Given the description of an element on the screen output the (x, y) to click on. 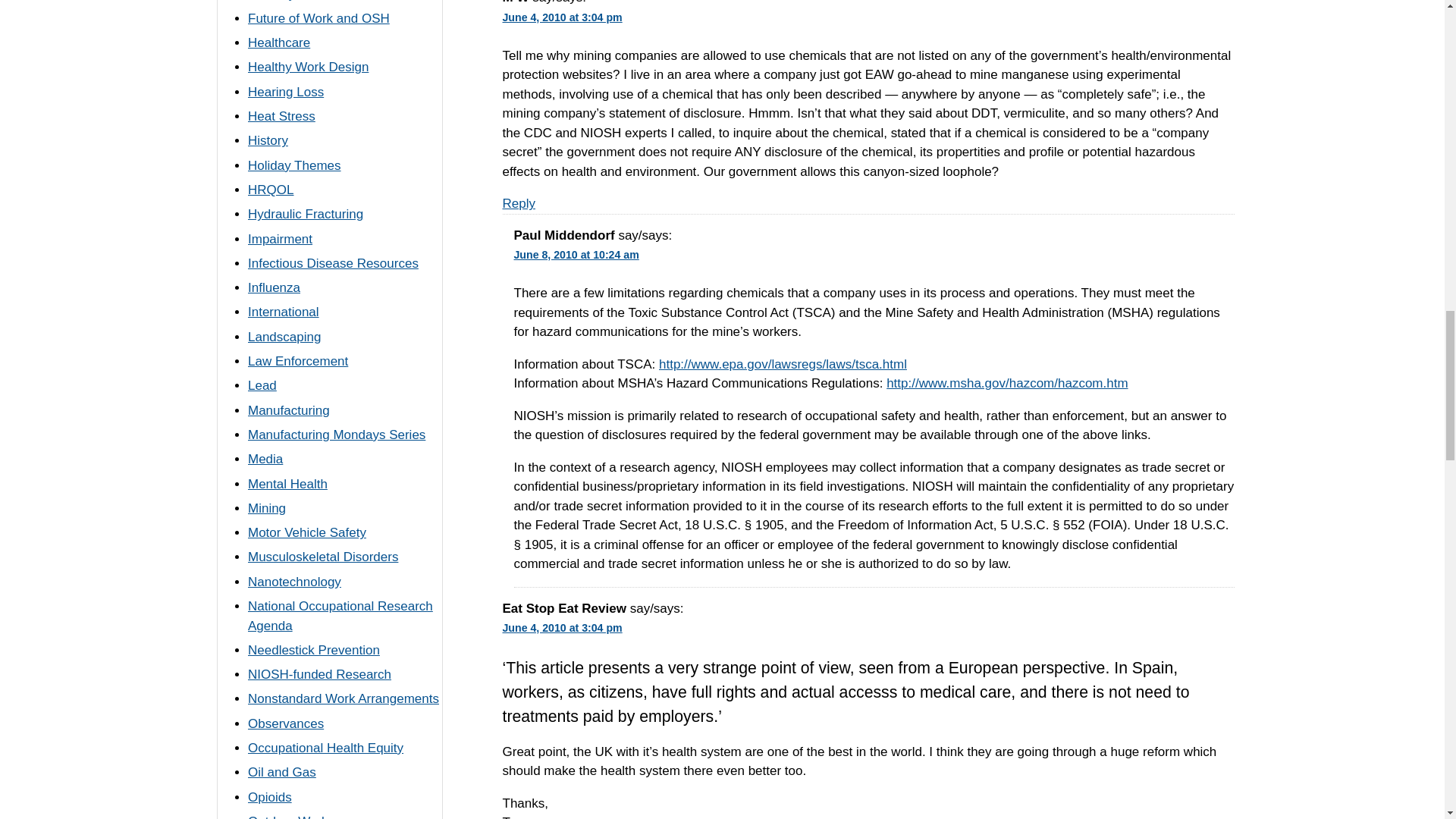
June 8, 2010 at 10:24 am (579, 254)
June 4, 2010 at 3:04 pm (565, 626)
June 4, 2010 at 3:04 pm (565, 16)
Reply (518, 203)
